Given the description of an element on the screen output the (x, y) to click on. 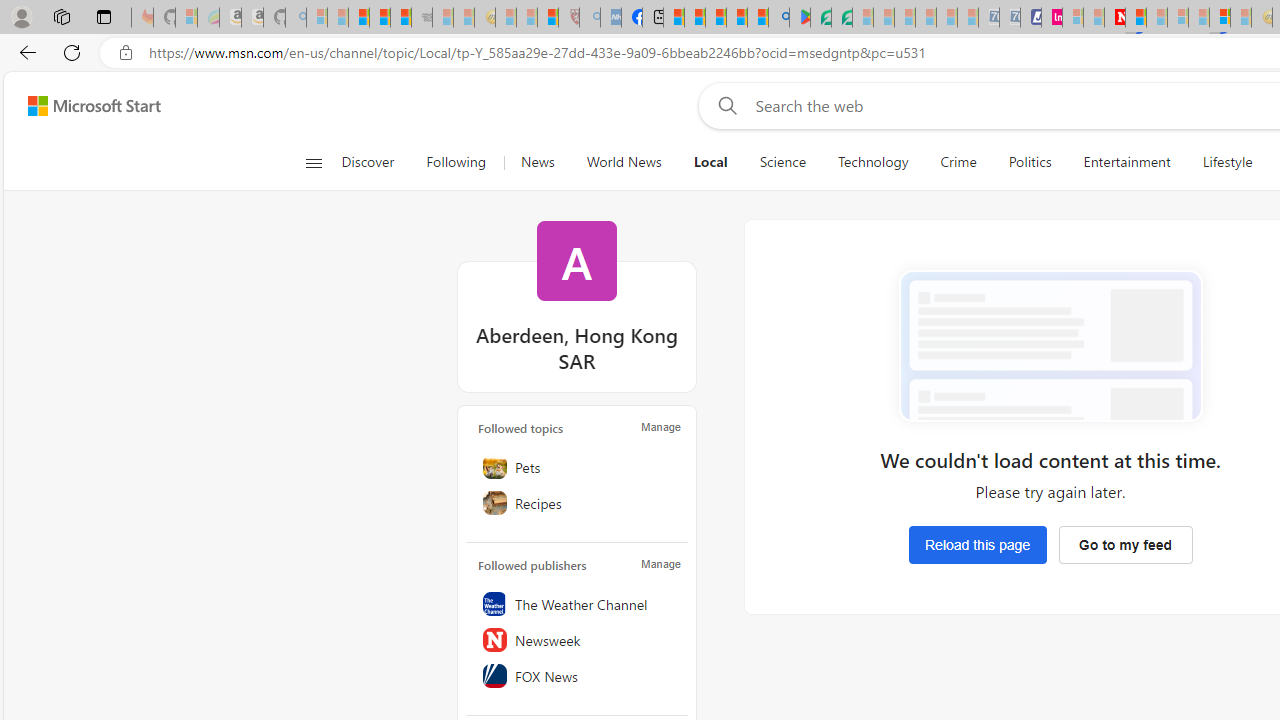
Skip to footer (82, 105)
Entertainment (1126, 162)
Cheap Car Rentals - Save70.com - Sleeping (989, 17)
Technology (872, 162)
Crime (957, 162)
Lifestyle (1227, 162)
Robert H. Shmerling, MD - Harvard Health - Sleeping (568, 17)
Cheap Hotels - Save70.com - Sleeping (1009, 17)
